Given the description of an element on the screen output the (x, y) to click on. 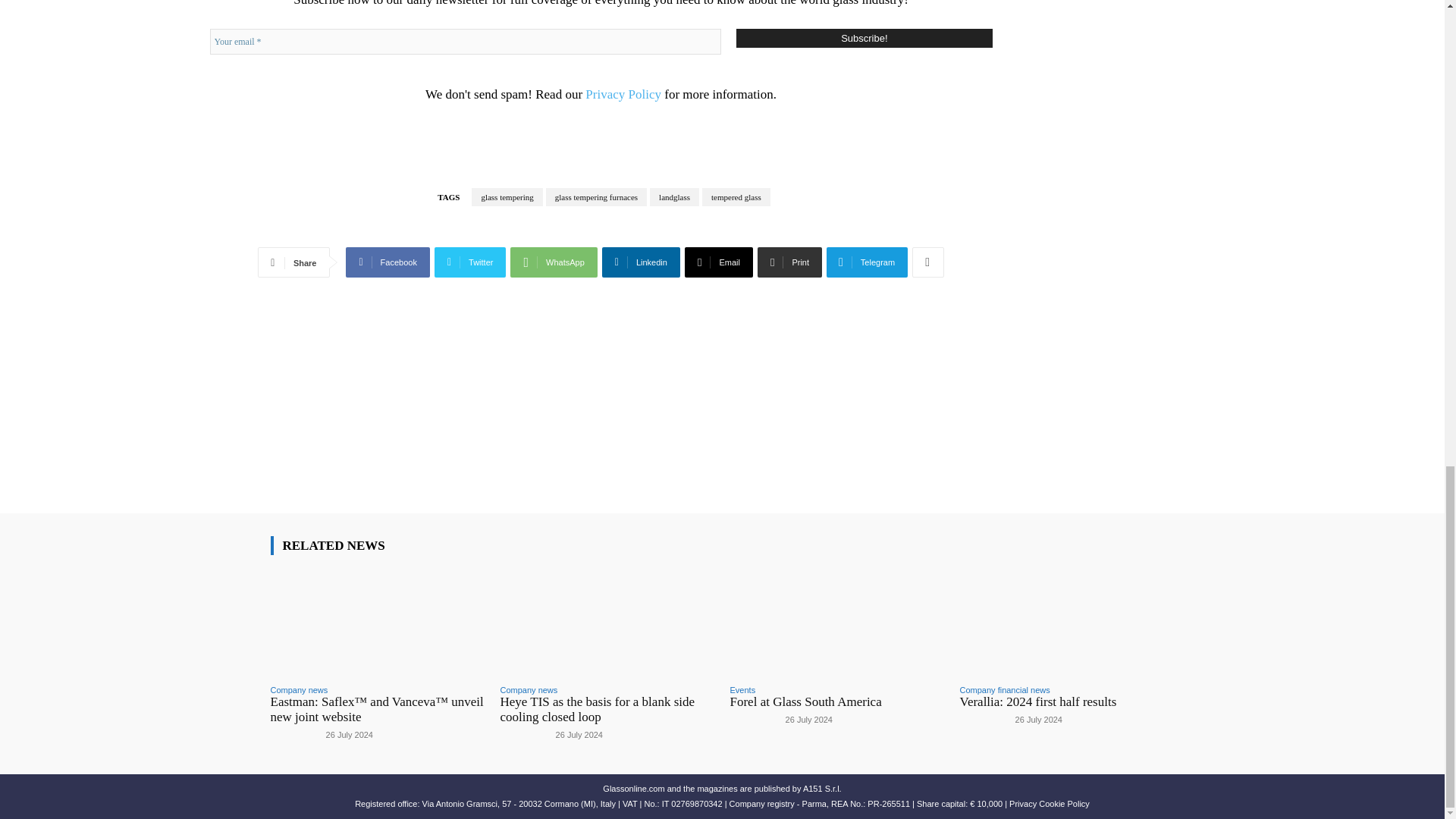
Facebook (387, 262)
Email (718, 262)
Your email (464, 41)
Twitter (469, 262)
Print (789, 262)
Subscribe! (863, 37)
WhatsApp (553, 262)
Linkedin (640, 262)
